Given the description of an element on the screen output the (x, y) to click on. 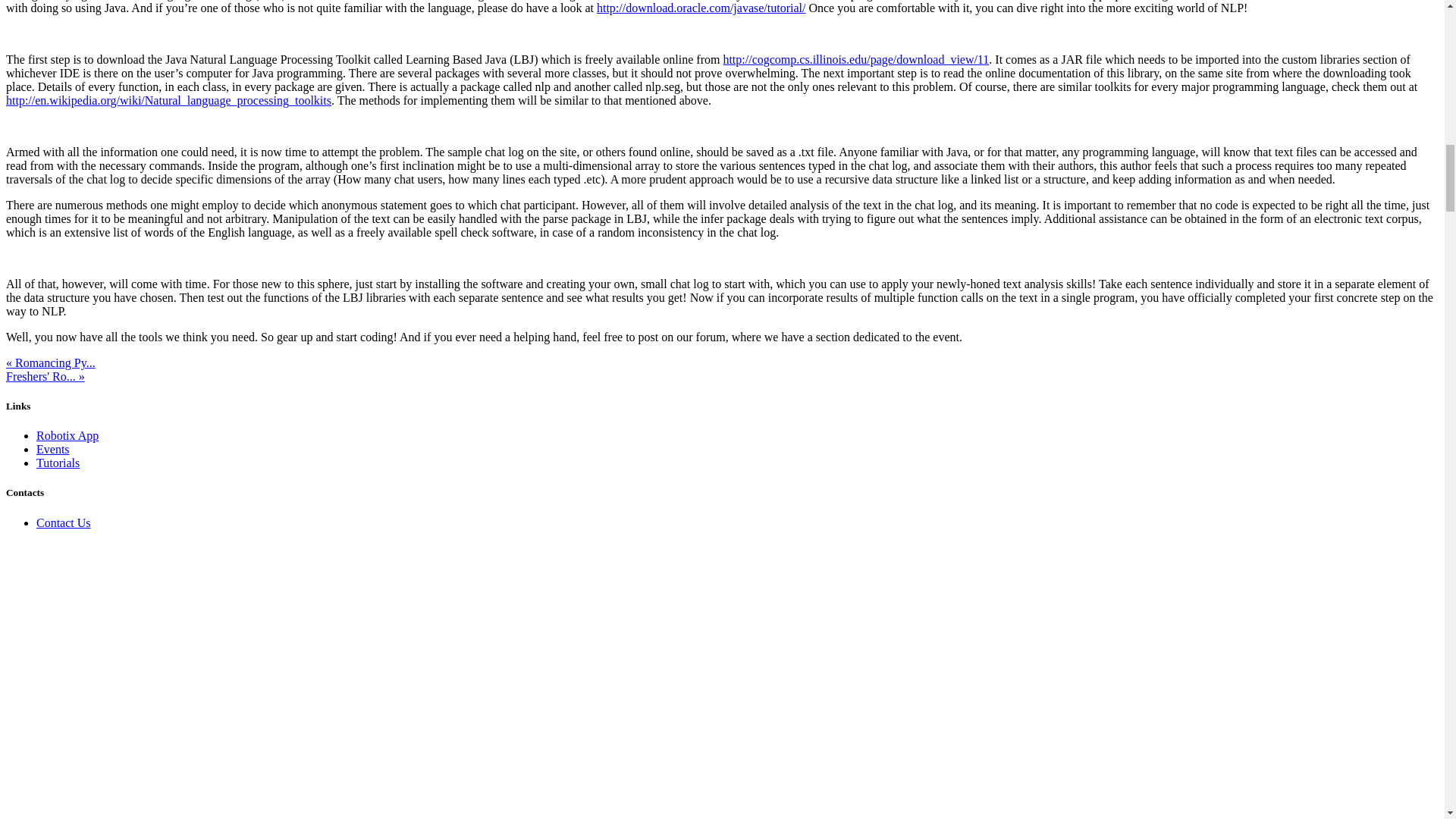
Robotix App (67, 435)
Robotix 2012 (356, 0)
Events (52, 449)
Tutorials (58, 462)
Romancing Python : Part I (50, 362)
Freshers' RoboSoccer Challenge 2011 ! (44, 376)
Contact Us (63, 521)
